Given the description of an element on the screen output the (x, y) to click on. 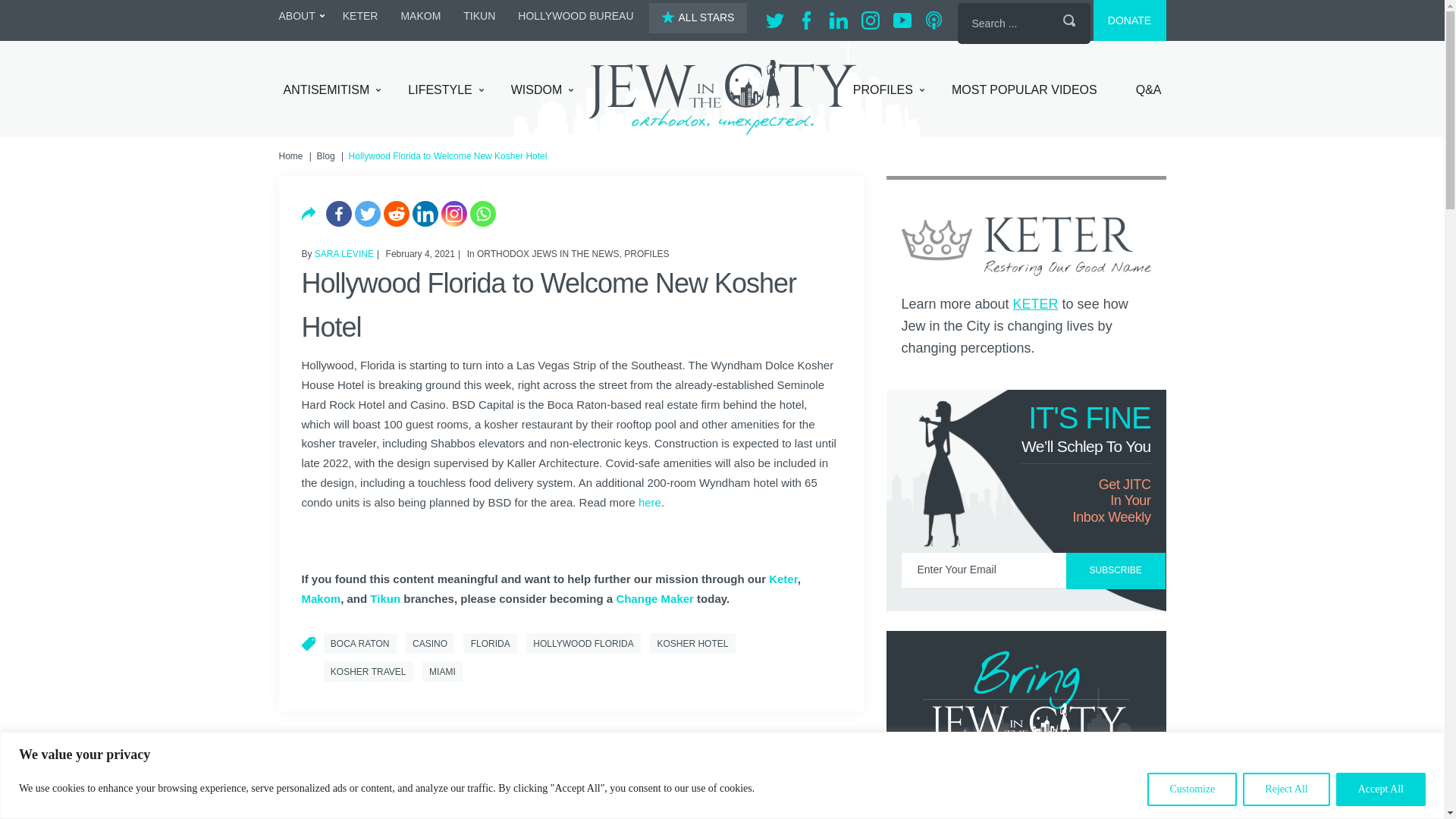
Reject All (1286, 788)
Accept All (1380, 788)
LIFESTYLE (445, 90)
Facebook (339, 213)
Reddit (396, 213)
Instagram (454, 213)
Whatsapp (483, 213)
Customize (1191, 788)
ANTISEMITISM (332, 90)
WISDOM (542, 90)
Linkedin (425, 213)
Twitter (367, 213)
